Given the description of an element on the screen output the (x, y) to click on. 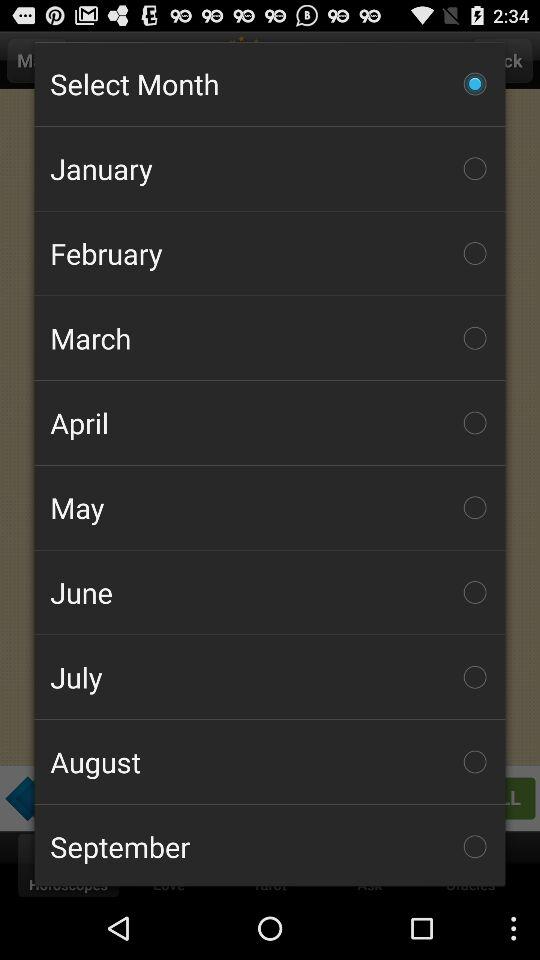
jump to may icon (269, 507)
